Given the description of an element on the screen output the (x, y) to click on. 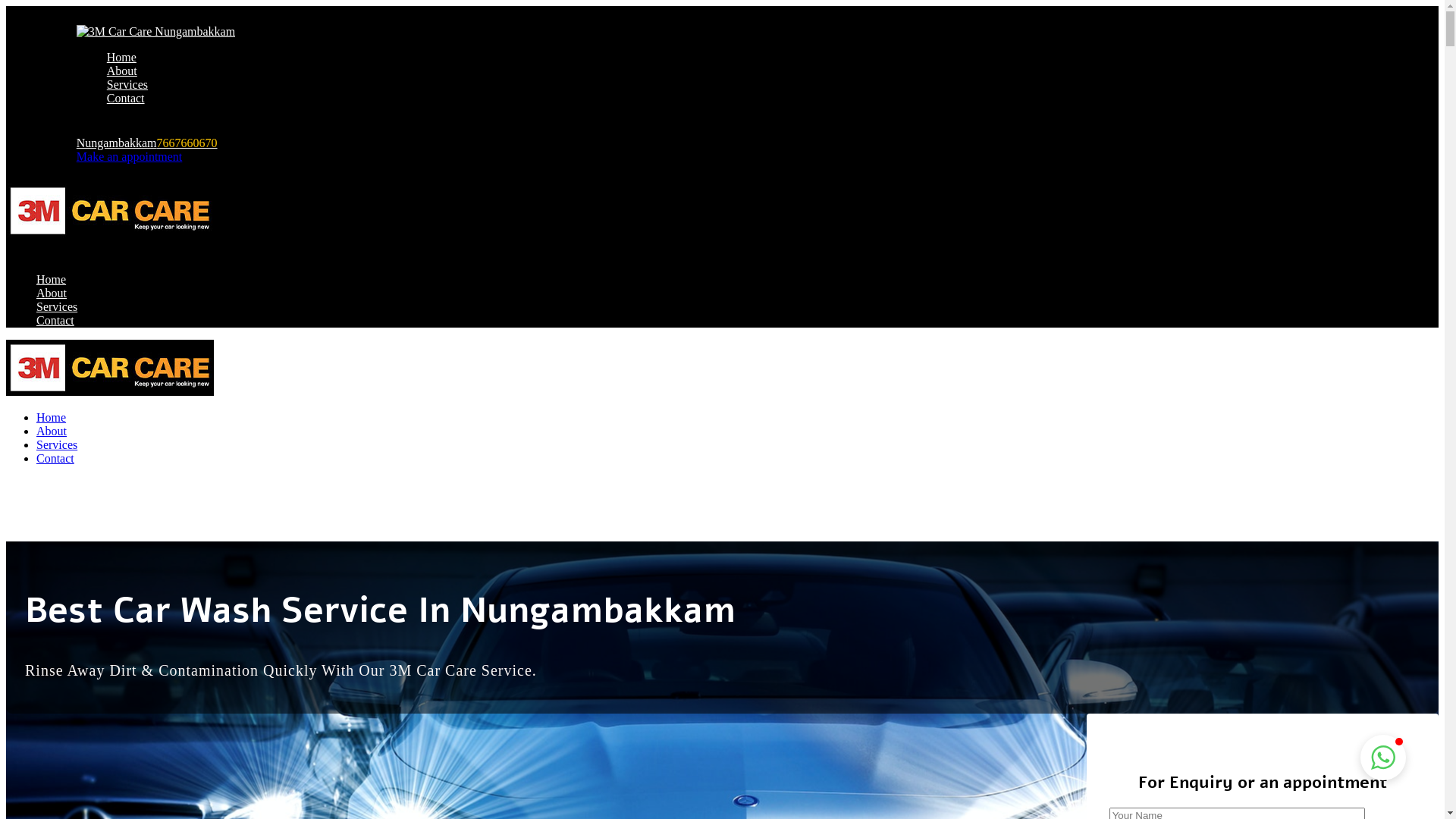
Home Element type: text (50, 417)
Make an appointment Element type: text (129, 156)
Services Element type: text (126, 84)
About Element type: text (51, 292)
Home Element type: text (50, 279)
Contact Element type: text (55, 319)
Services Element type: text (56, 444)
Nungambakkam7667660670 Element type: text (146, 142)
Contact Element type: text (125, 97)
Services Element type: text (56, 306)
Contact Element type: text (55, 457)
Home Element type: text (121, 56)
About Element type: text (121, 70)
About Element type: text (51, 430)
